Given the description of an element on the screen output the (x, y) to click on. 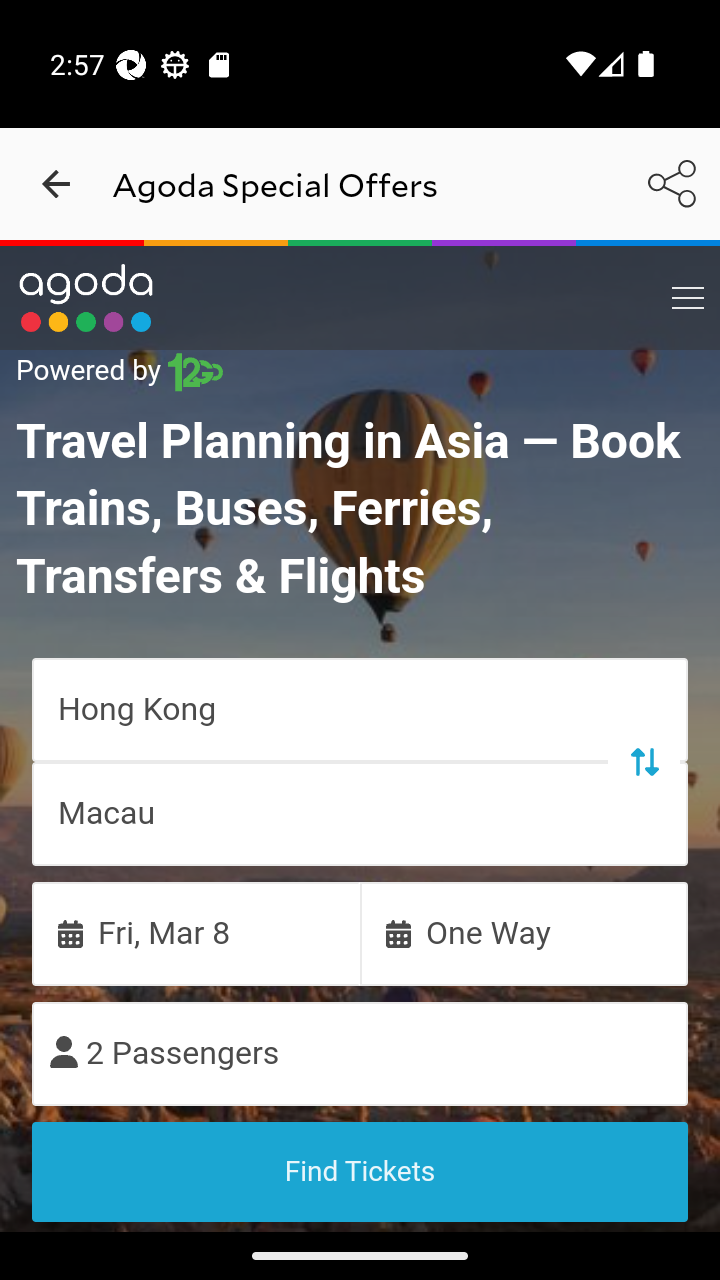
navigation_button (56, 184)
Share (672, 183)
Link to main page 5418 (86, 298)
Hong Kong (359, 708)
Swap trip points (643, 760)
Macau (359, 813)
Fri, Mar 8 (195, 932)
One Way (524, 932)
 2 Passengers (359, 1052)
Find Tickets (359, 1171)
